Given the description of an element on the screen output the (x, y) to click on. 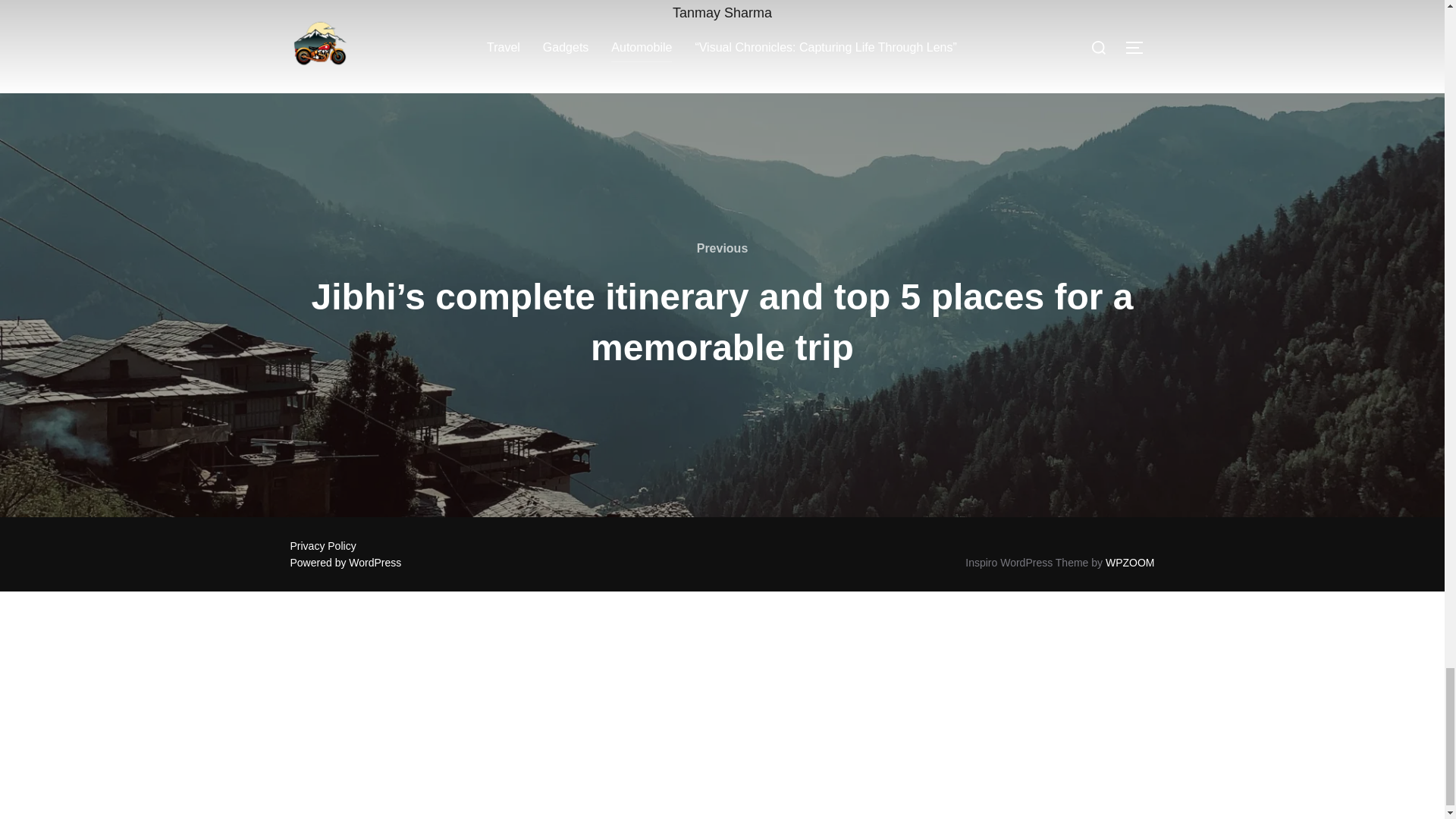
WPZOOM (1129, 562)
Privacy Policy (322, 545)
Powered by WordPress (345, 562)
Posts by Tanmay Sharma (721, 12)
Tanmay Sharma (721, 12)
